Given the description of an element on the screen output the (x, y) to click on. 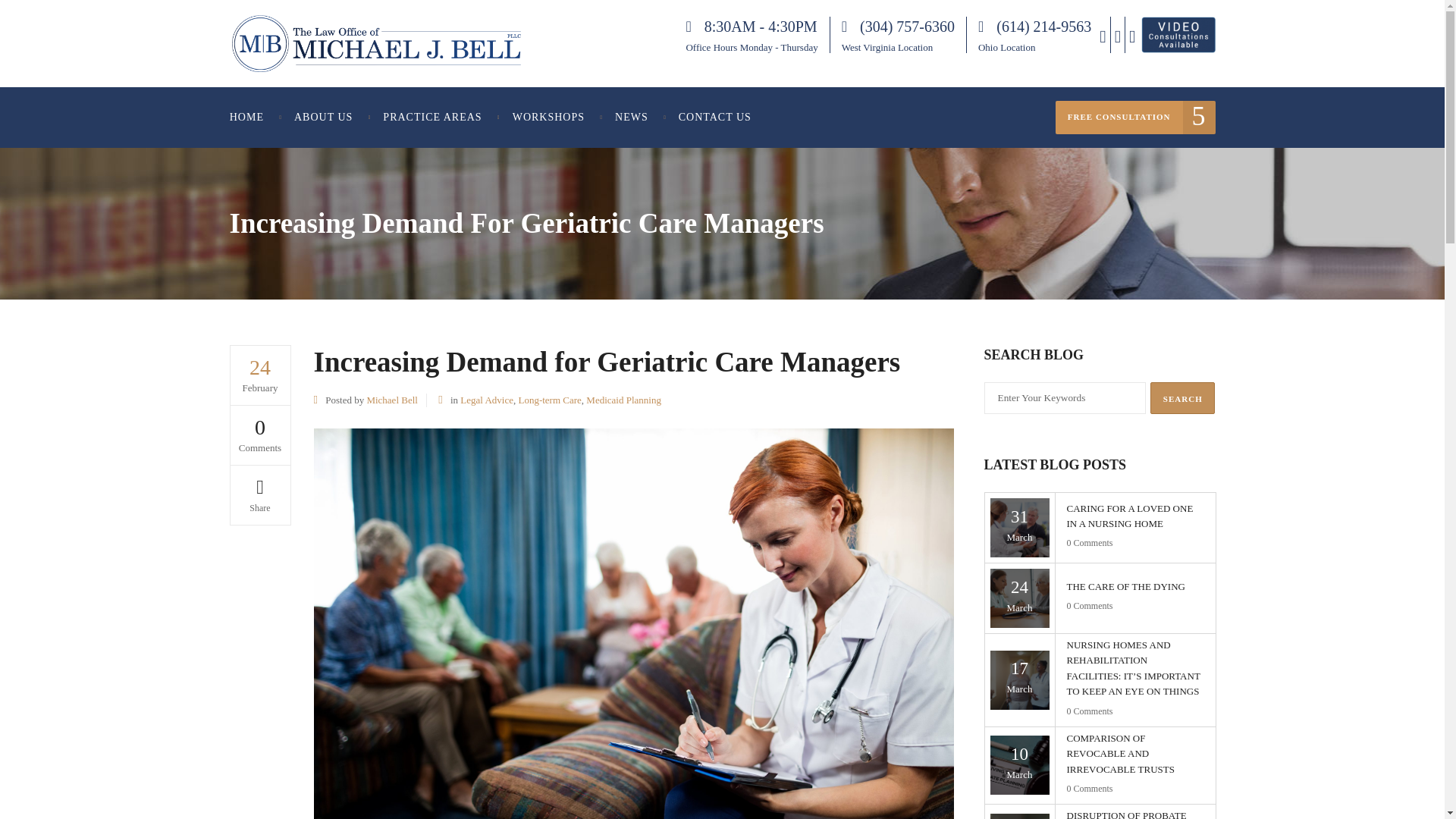
FREE CONSULTATION (1135, 117)
ABOUT US (323, 117)
PRACTICE AREAS (432, 117)
Search (1182, 398)
CONTACT US (715, 117)
NEWS (631, 117)
Search (1182, 398)
WORKSHOPS (548, 117)
